Given the description of an element on the screen output the (x, y) to click on. 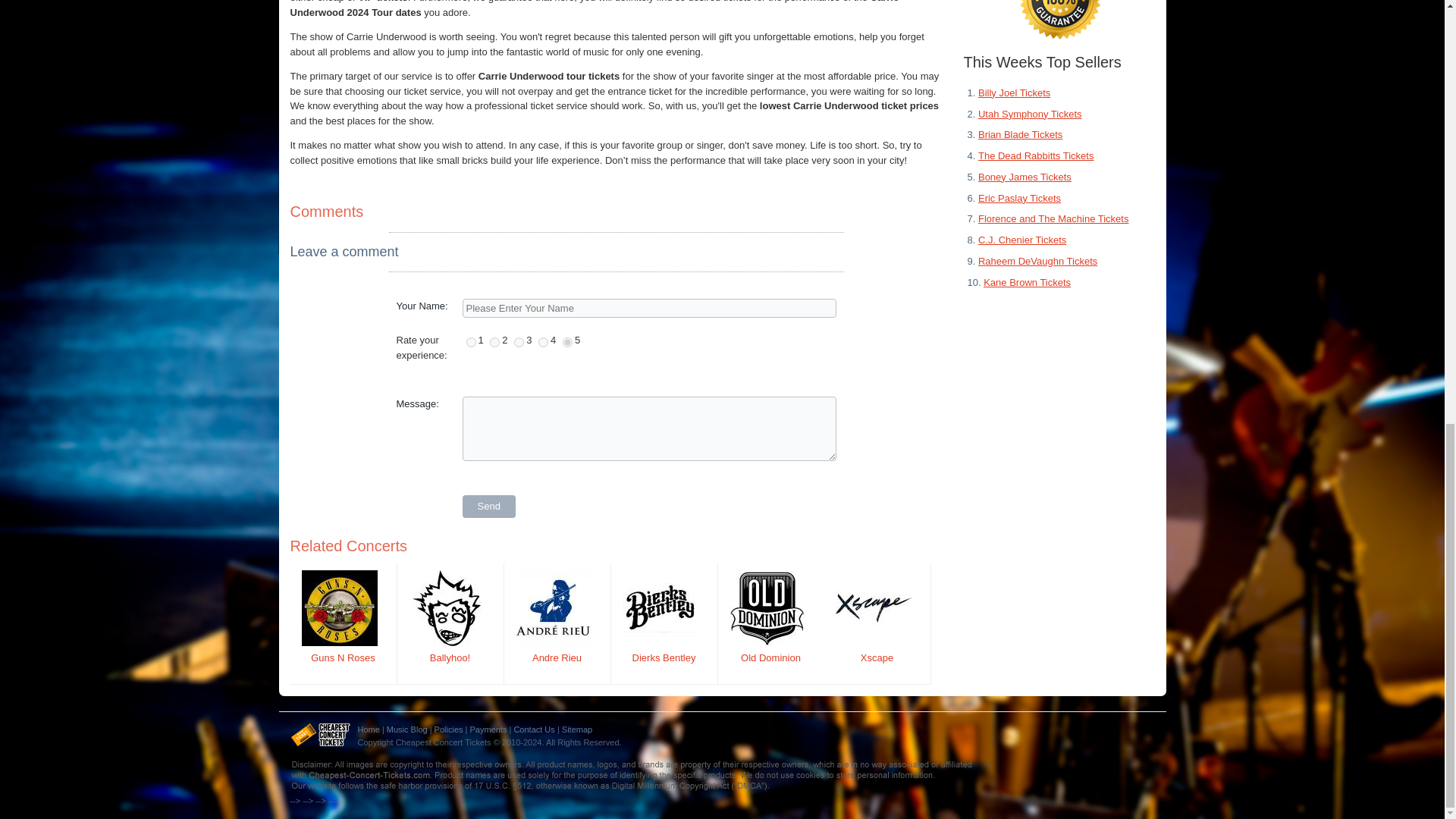
Buy Andre Rieu Tickets (553, 608)
The Dead Rabbitts Tickets (1035, 155)
1 (470, 342)
Send (489, 506)
Buy Ballyhoo! Tickets (445, 608)
Old Dominion (770, 657)
Florence and The Machine Tickets (1053, 218)
C.J. Chenier Tickets (1021, 239)
Buy Xscape Tickets (873, 608)
2 (494, 342)
